Given the description of an element on the screen output the (x, y) to click on. 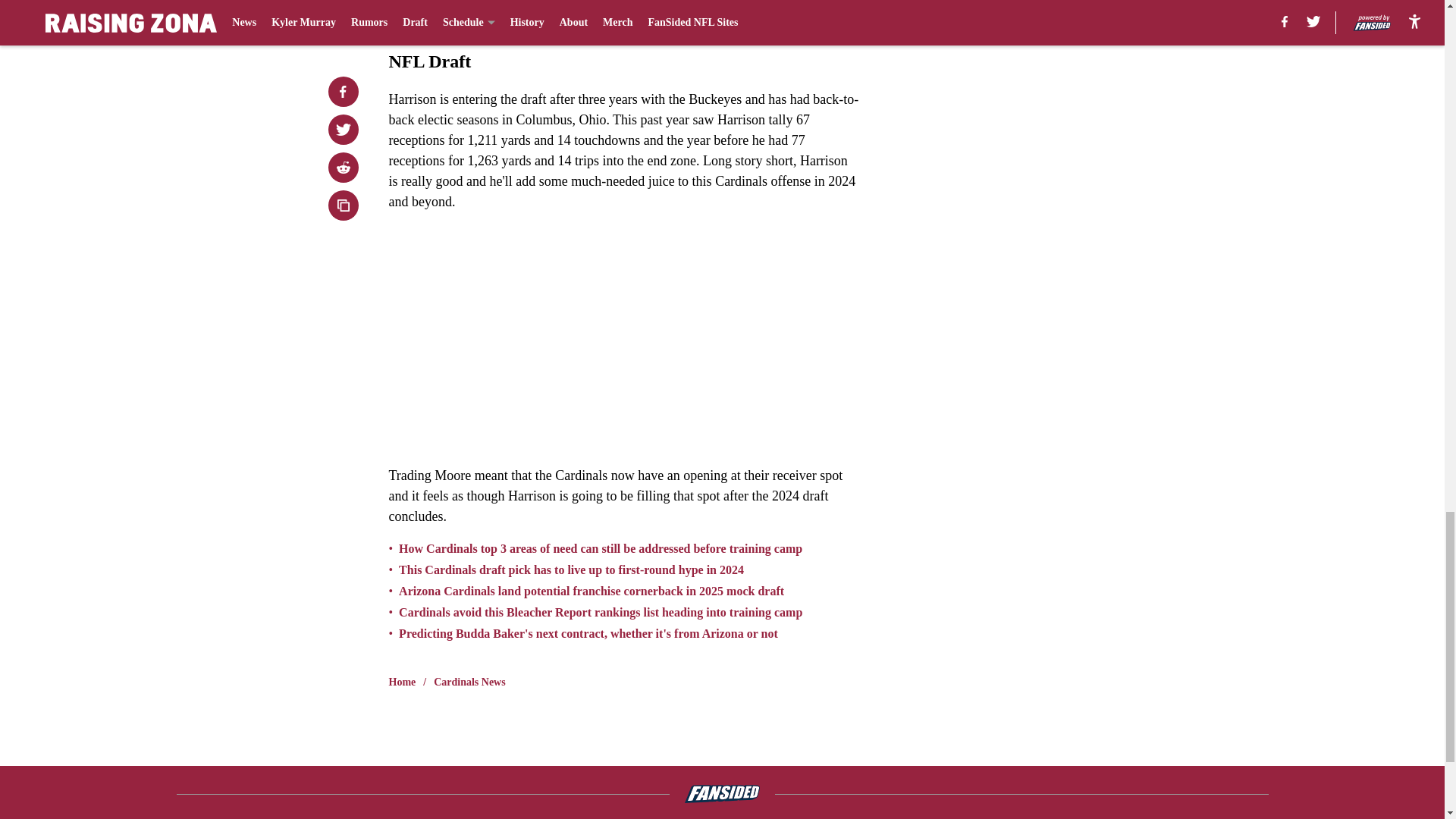
Home (401, 682)
Openings (676, 818)
Masthead (521, 818)
Cardinals News (469, 682)
Contact (861, 818)
